Given the description of an element on the screen output the (x, y) to click on. 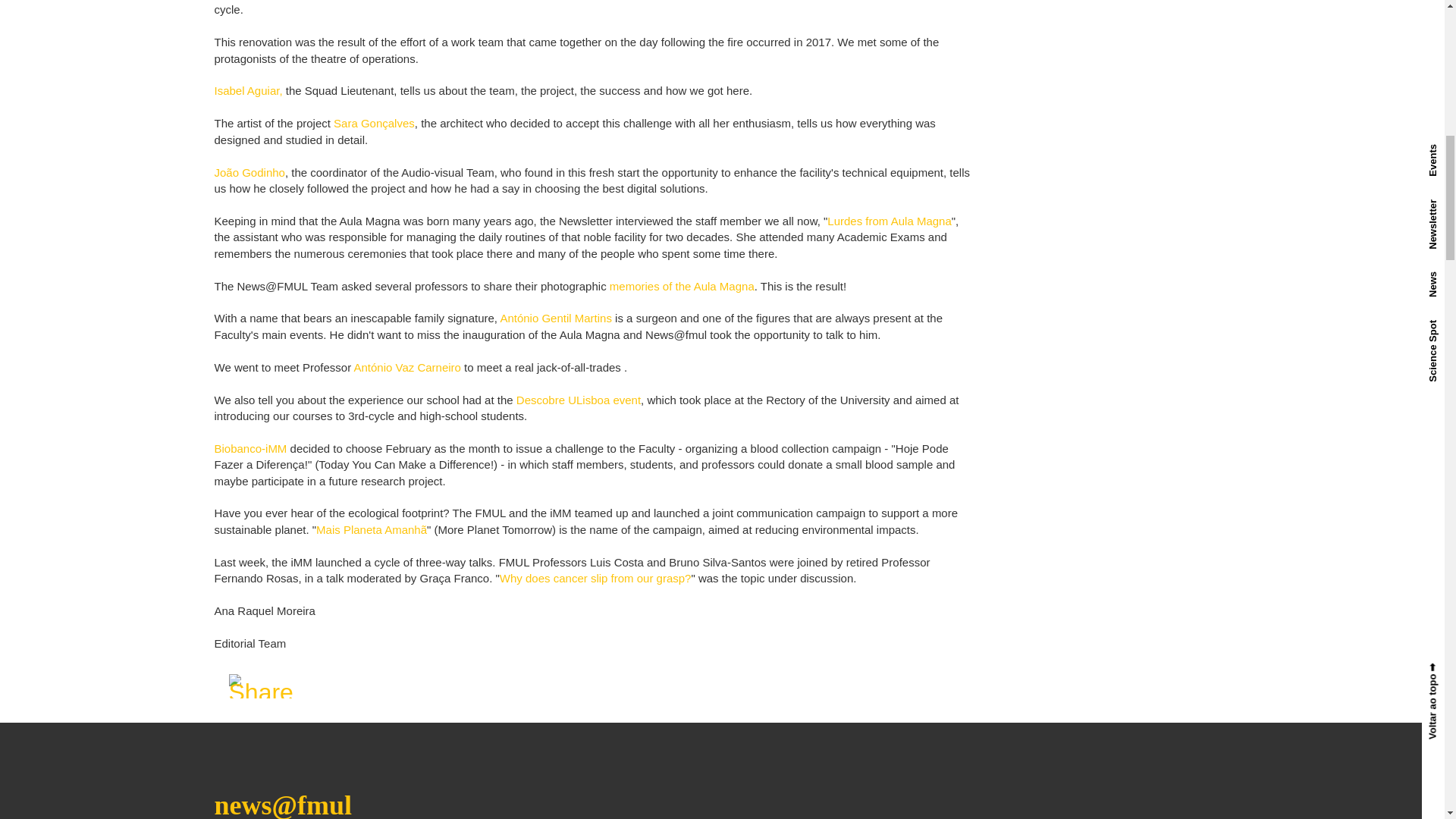
Why does cancer slip from our grasp? (595, 577)
Biobanco-iMM (250, 448)
Isabel Aguiar, (248, 90)
Descobre ULisboa event (578, 399)
memories of the Aula Magna (682, 286)
Lurdes from Aula Magna (888, 220)
